Given the description of an element on the screen output the (x, y) to click on. 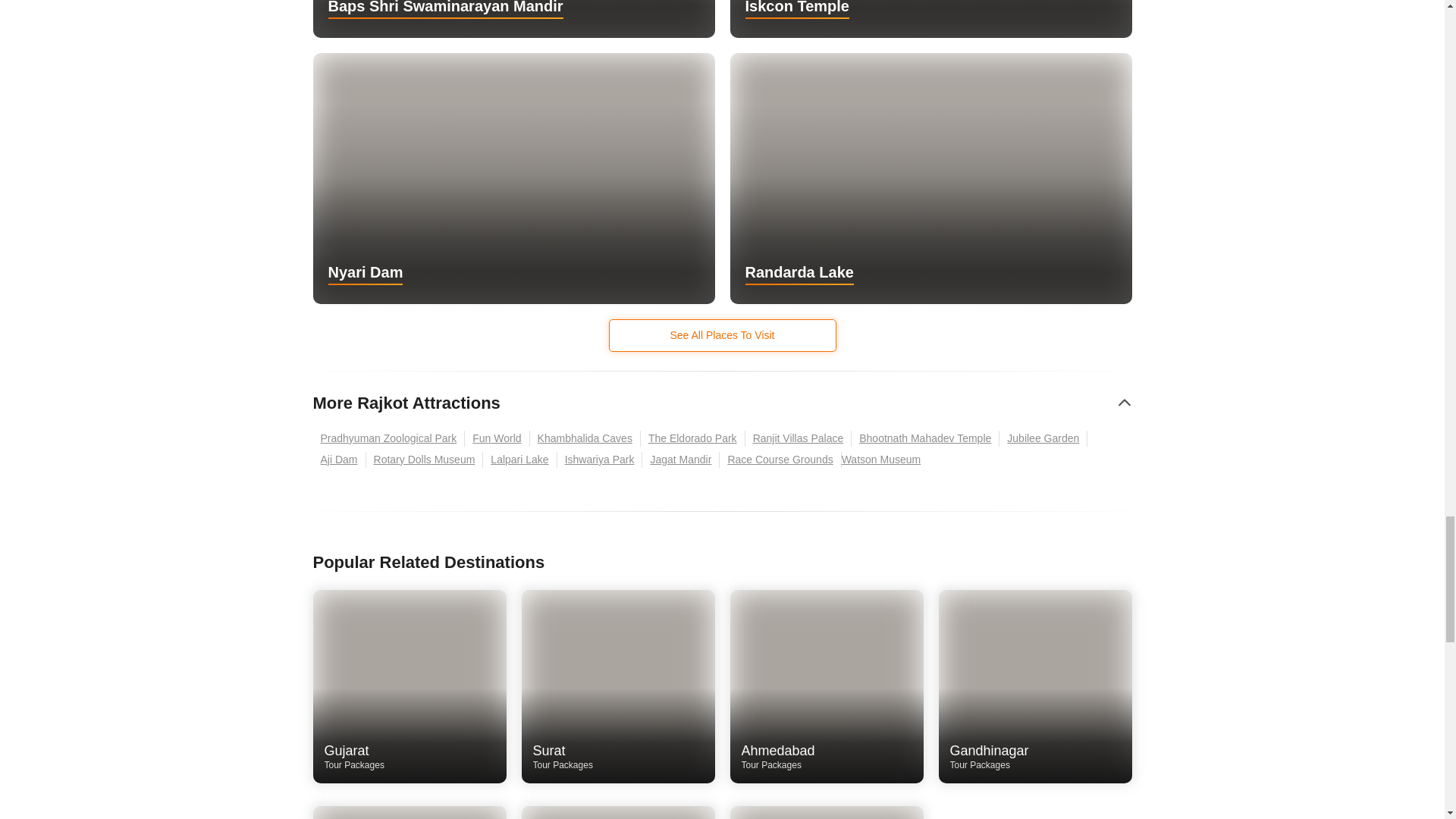
Aji Dam (339, 459)
Fun World (496, 438)
The Eldorado Park (692, 438)
Jubilee Garden (1042, 438)
Rotary Dolls Museum (424, 459)
See All Places To Visit (721, 335)
Nyari Dam (513, 178)
Iskcon Temple (930, 18)
Bhootnath Mahadev Temple (924, 438)
Randarda Lake (930, 178)
Ranjit Villas Palace (798, 438)
Lalpari Lake (519, 459)
Baps Shri Swaminarayan Mandir (513, 18)
Khambhalida Caves (584, 438)
Pradhyuman Zoological Park (388, 438)
